Given the description of an element on the screen output the (x, y) to click on. 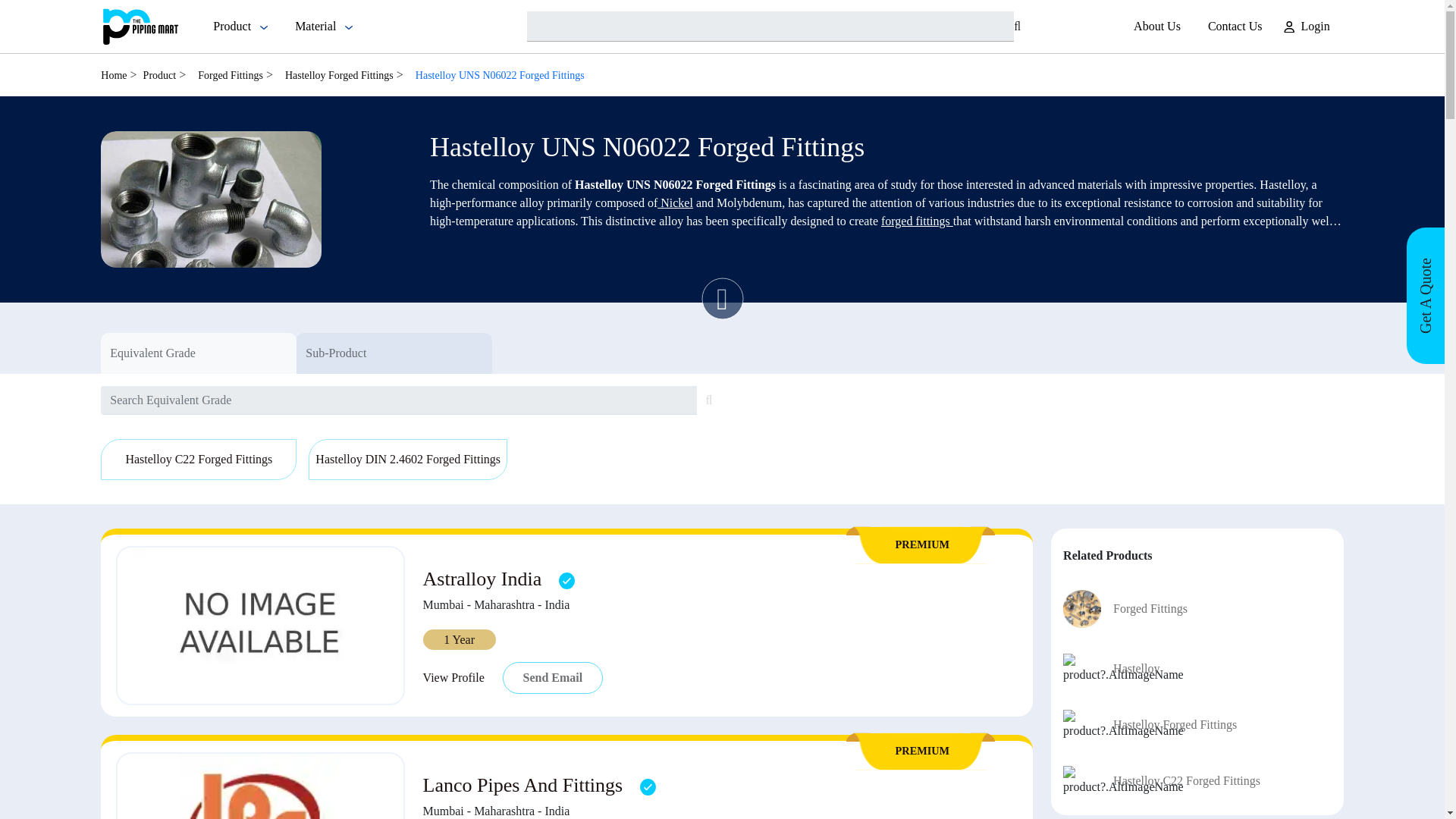
Tax ID verified. Email verified. (567, 580)
Tax ID verified. Email verified. (648, 786)
Piping Mart (140, 26)
